Given the description of an element on the screen output the (x, y) to click on. 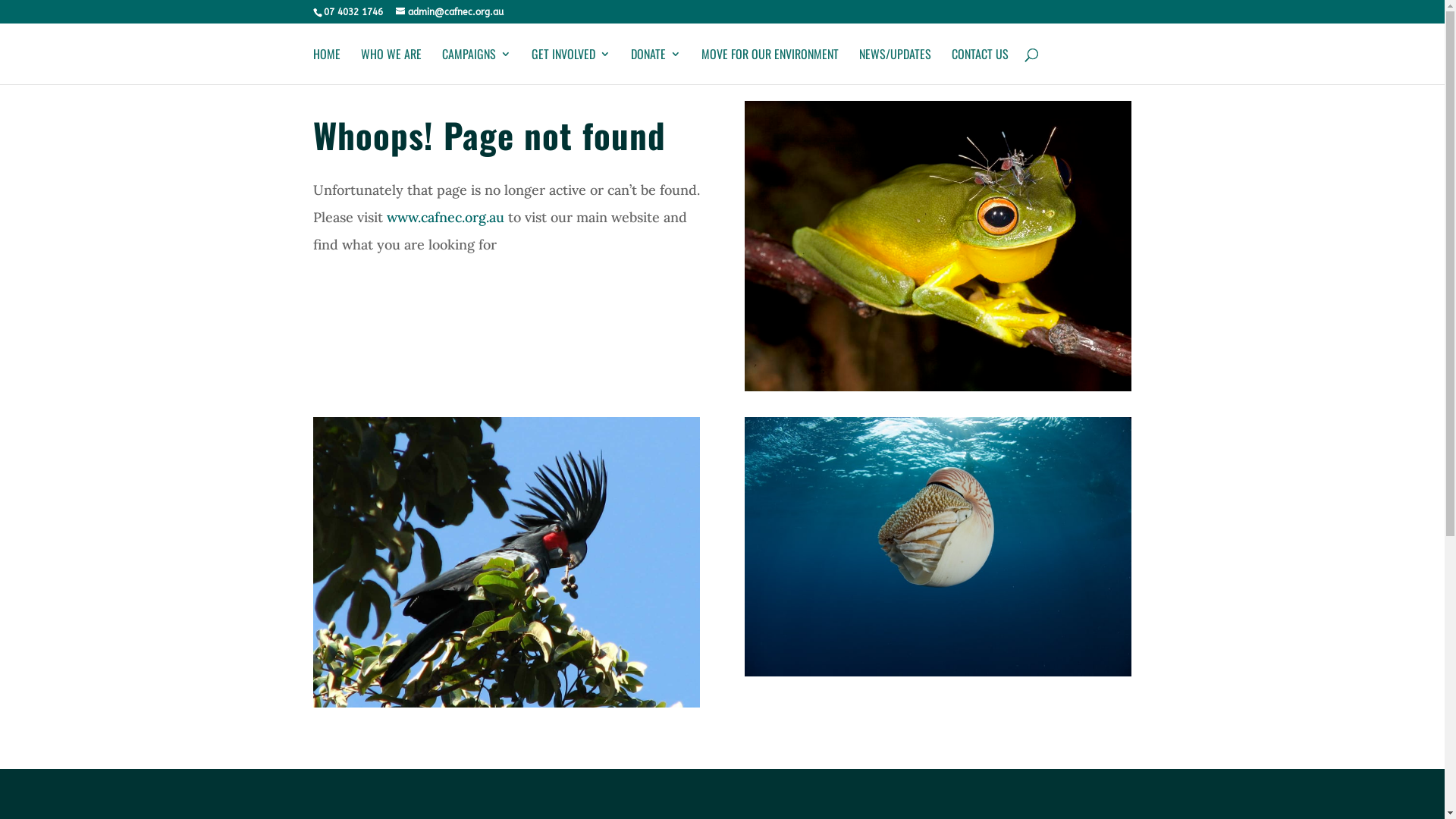
HOME Element type: text (325, 66)
MOVE FOR OUR ENVIRONMENT Element type: text (768, 66)
NEWS/UPDATES Element type: text (894, 66)
WHO WE ARE Element type: text (390, 66)
www.cafnec.org.au Element type: text (445, 216)
DONATE Element type: text (655, 66)
CONTACT US Element type: text (978, 66)
admin@cafnec.org.au Element type: text (449, 11)
GET INVOLVED Element type: text (569, 66)
CAMPAIGNS Element type: text (475, 66)
